Given the description of an element on the screen output the (x, y) to click on. 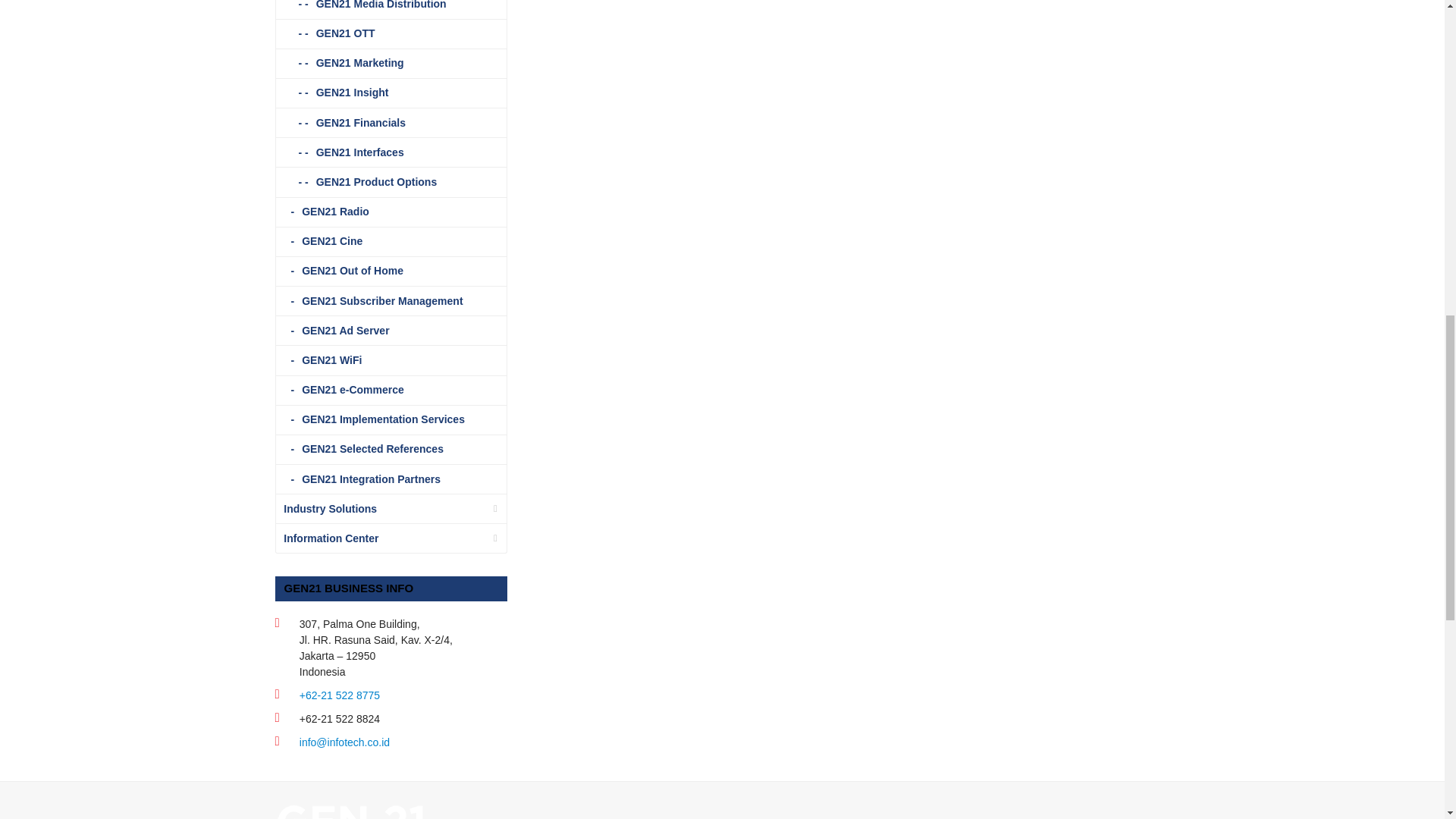
GEN21 Media Distribution (390, 9)
GEN21 Marketing (390, 63)
GEN21 SMS (350, 817)
GEN21 Insight (390, 93)
GEN21 OTT (390, 34)
